Given the description of an element on the screen output the (x, y) to click on. 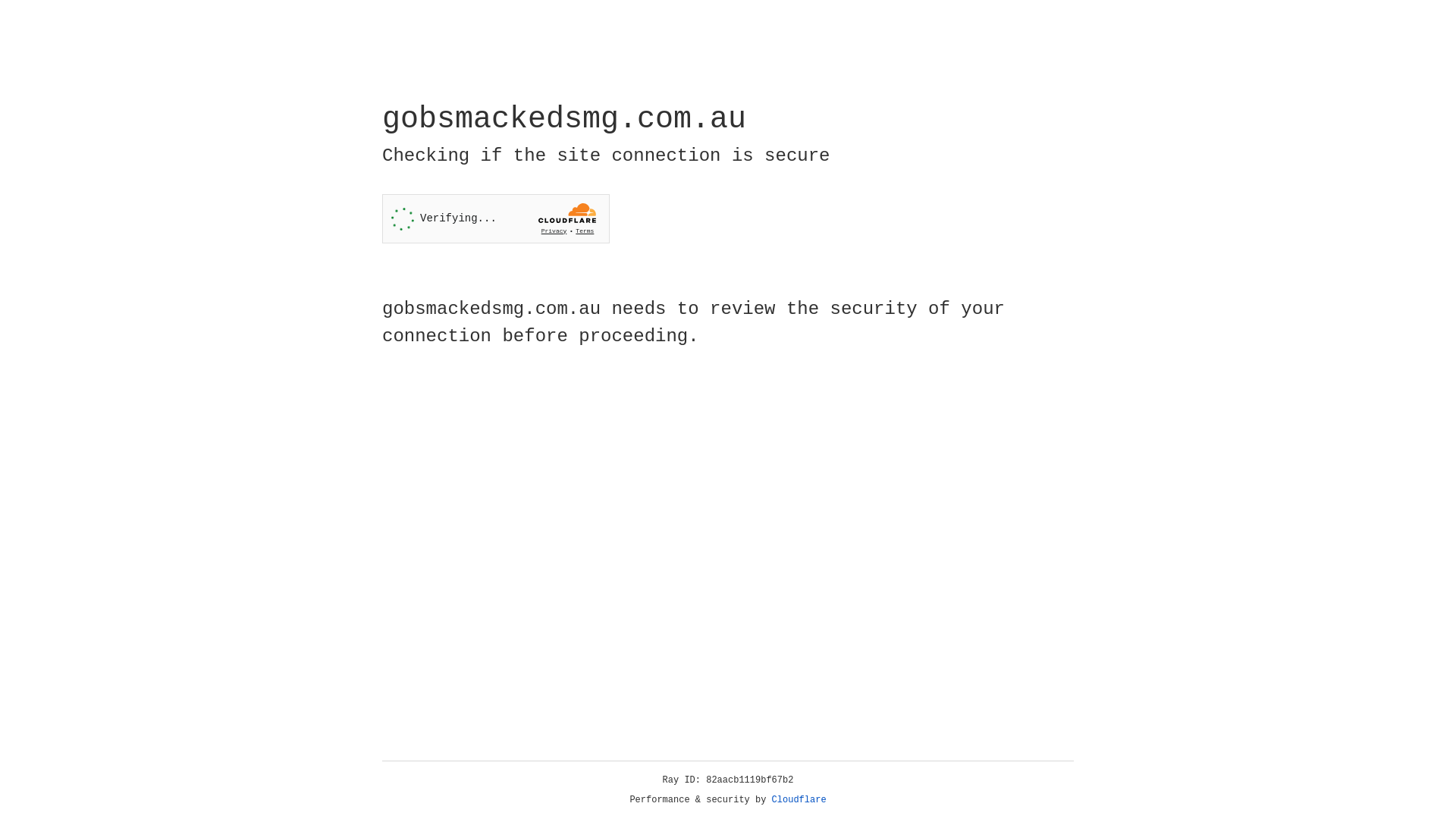
Widget containing a Cloudflare security challenge Element type: hover (495, 218)
Cloudflare Element type: text (798, 799)
